Given the description of an element on the screen output the (x, y) to click on. 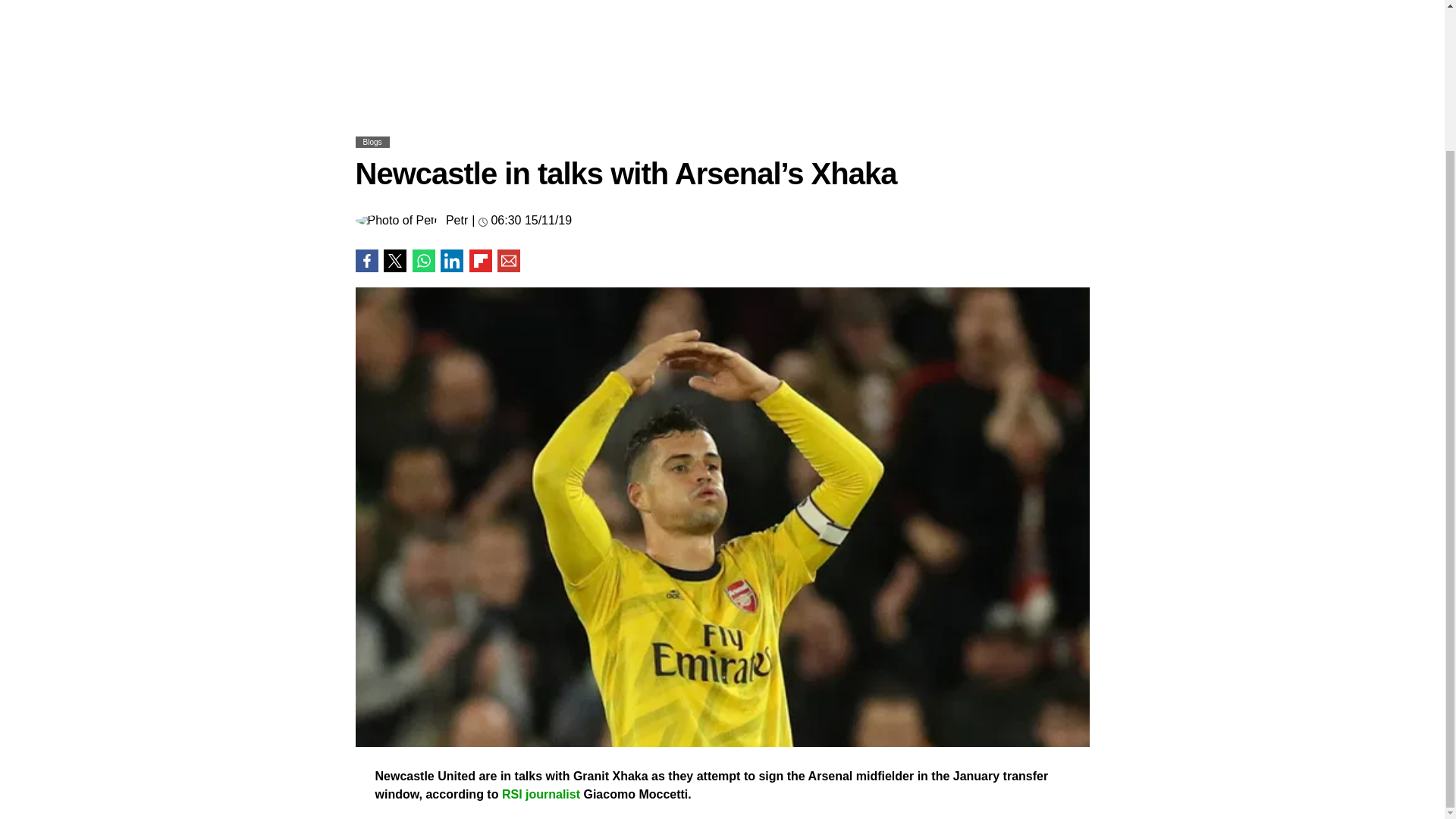
share on Facebook (366, 260)
share on WhatsApp (423, 260)
RSI journalist (540, 793)
share on Flipboard (480, 260)
Petr (456, 220)
share on LinkedIn (452, 260)
share on Email (508, 260)
share on Twitter (395, 260)
Blogs (371, 142)
